Given the description of an element on the screen output the (x, y) to click on. 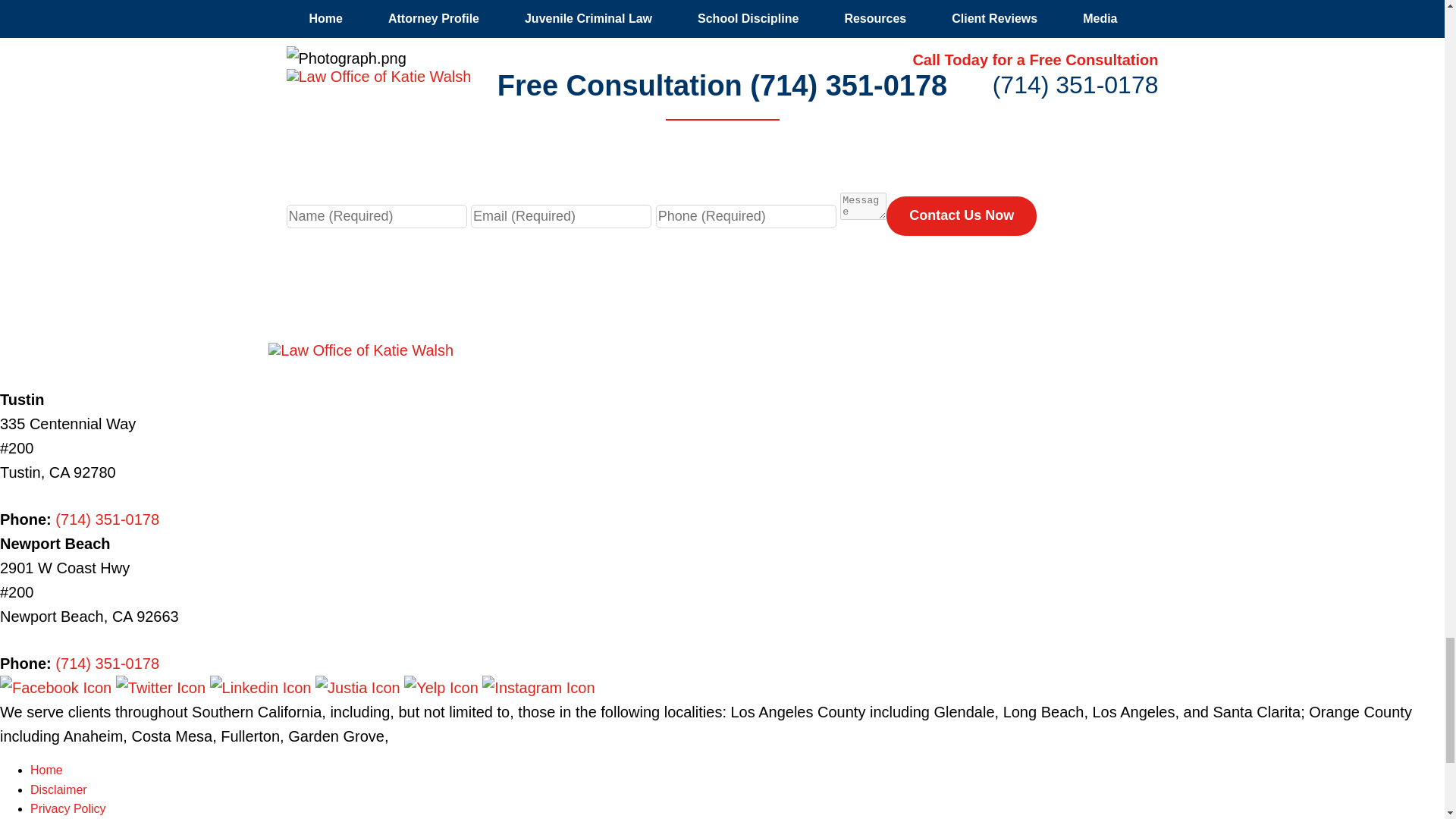
Contact Us Now (961, 215)
Linkedin (262, 687)
Justia (359, 687)
Yelp (442, 687)
Twitter (162, 687)
Instagram (537, 687)
Facebook (58, 687)
